Given the description of an element on the screen output the (x, y) to click on. 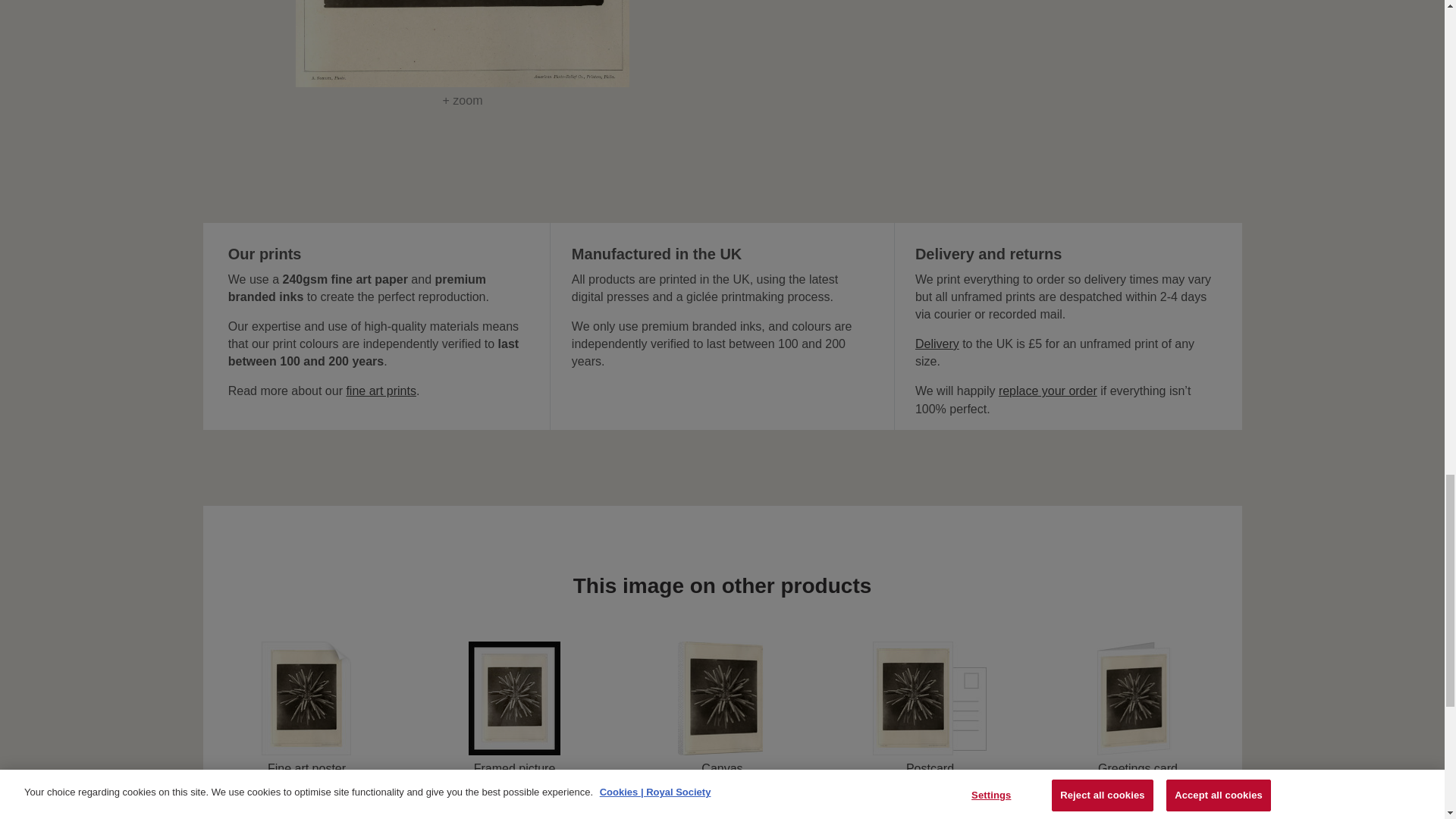
fine art prints (380, 390)
Canvas (721, 709)
Delivery (937, 343)
Postcard (929, 709)
Framed picture (514, 709)
Greetings card (1137, 709)
replace your order (1047, 390)
Fine art poster (306, 709)
